Given the description of an element on the screen output the (x, y) to click on. 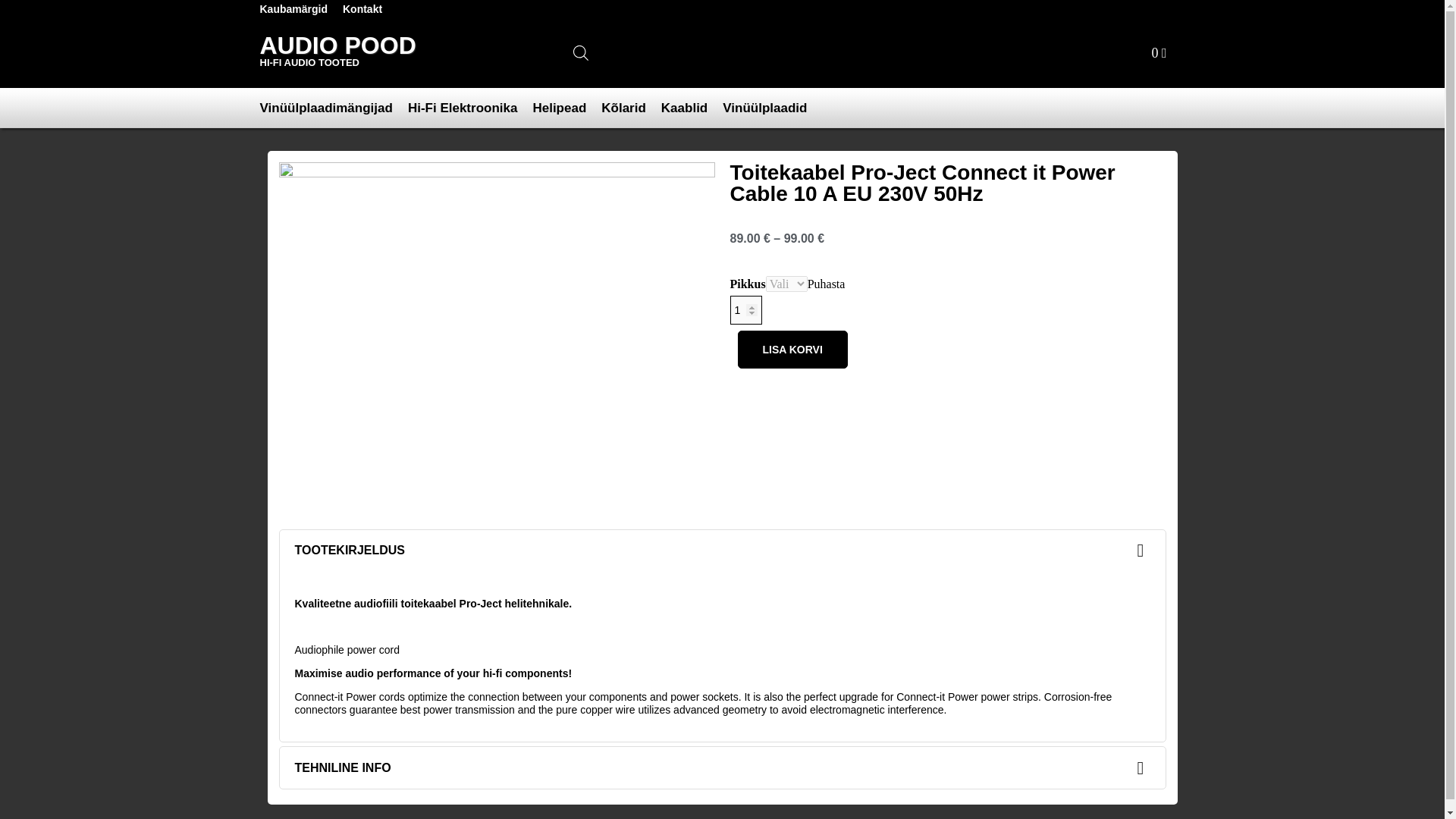
1 (745, 309)
